Given the description of an element on the screen output the (x, y) to click on. 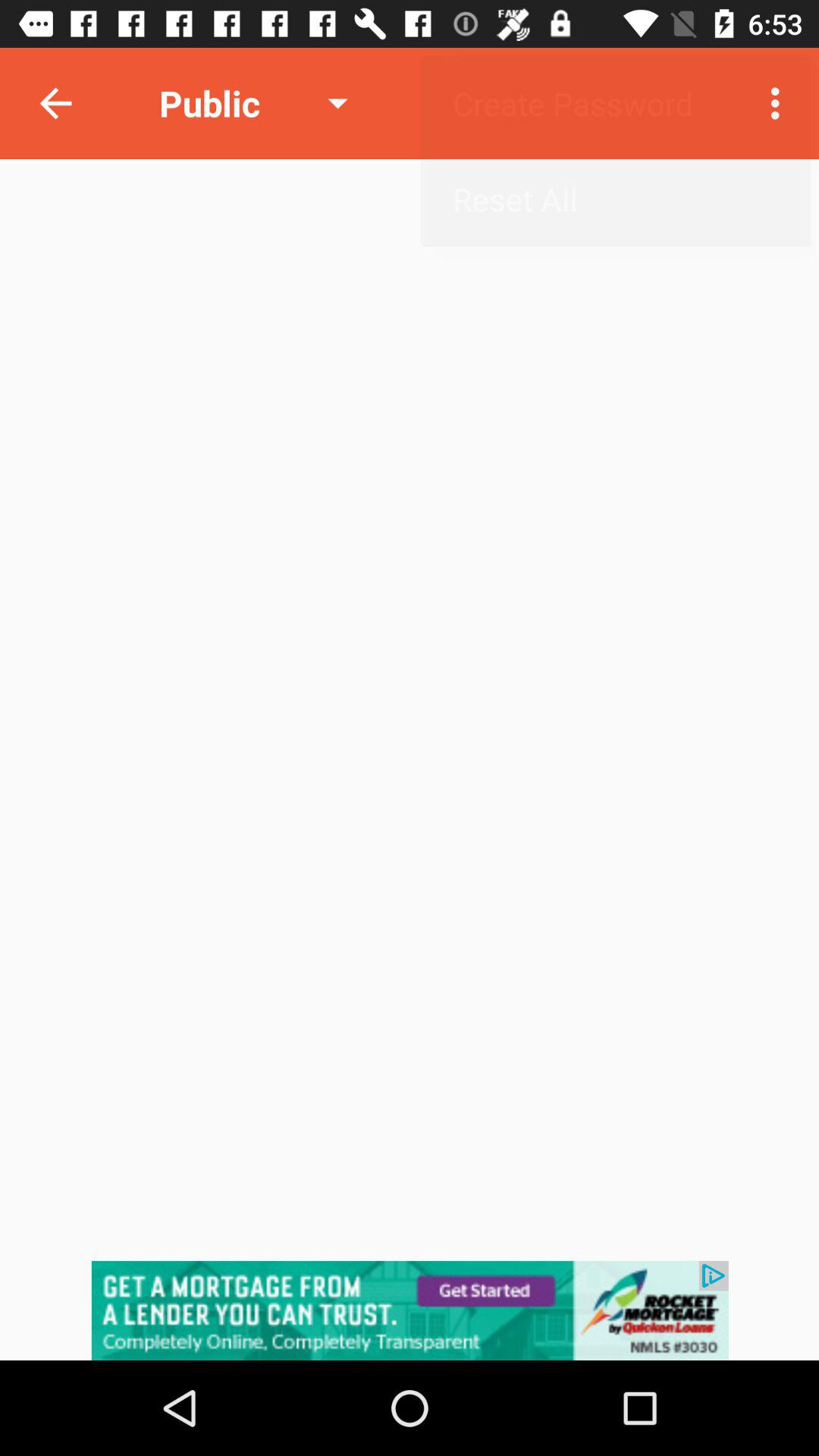
the button is used to advertisement option (409, 1310)
